Given the description of an element on the screen output the (x, y) to click on. 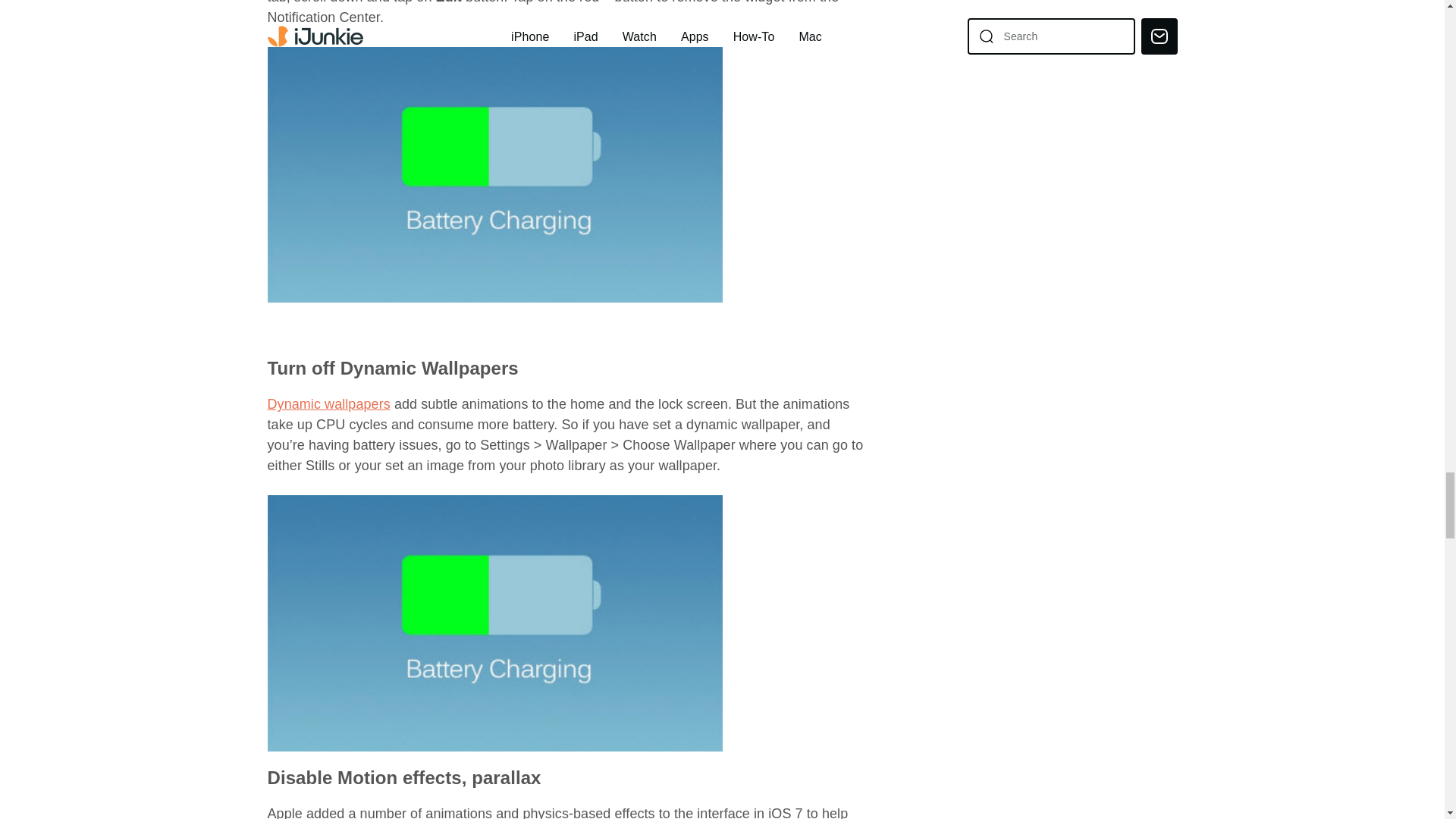
Dynamic wallpapers (328, 403)
